Given the description of an element on the screen output the (x, y) to click on. 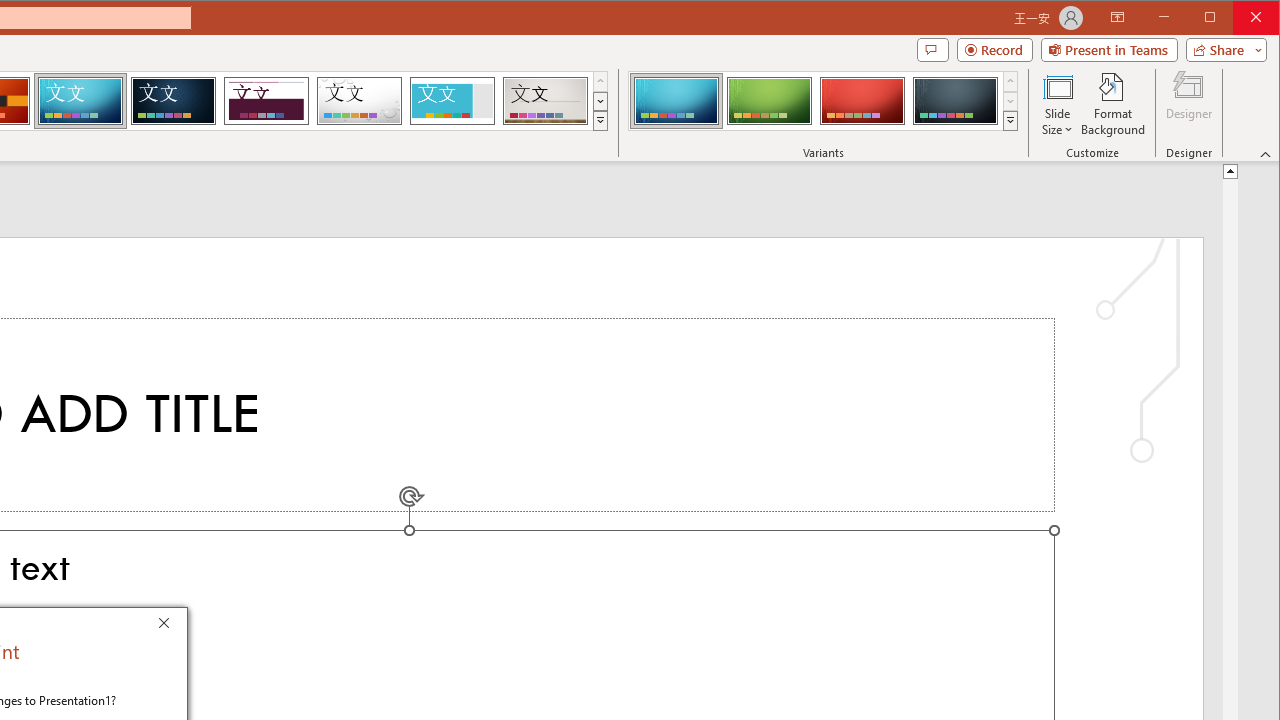
Themes (600, 120)
Variants (1010, 120)
Maximize (1238, 18)
Circuit Variant 2 (769, 100)
Damask (173, 100)
Circuit Variant 4 (955, 100)
Designer (1188, 104)
Gallery (545, 100)
